Given the description of an element on the screen output the (x, y) to click on. 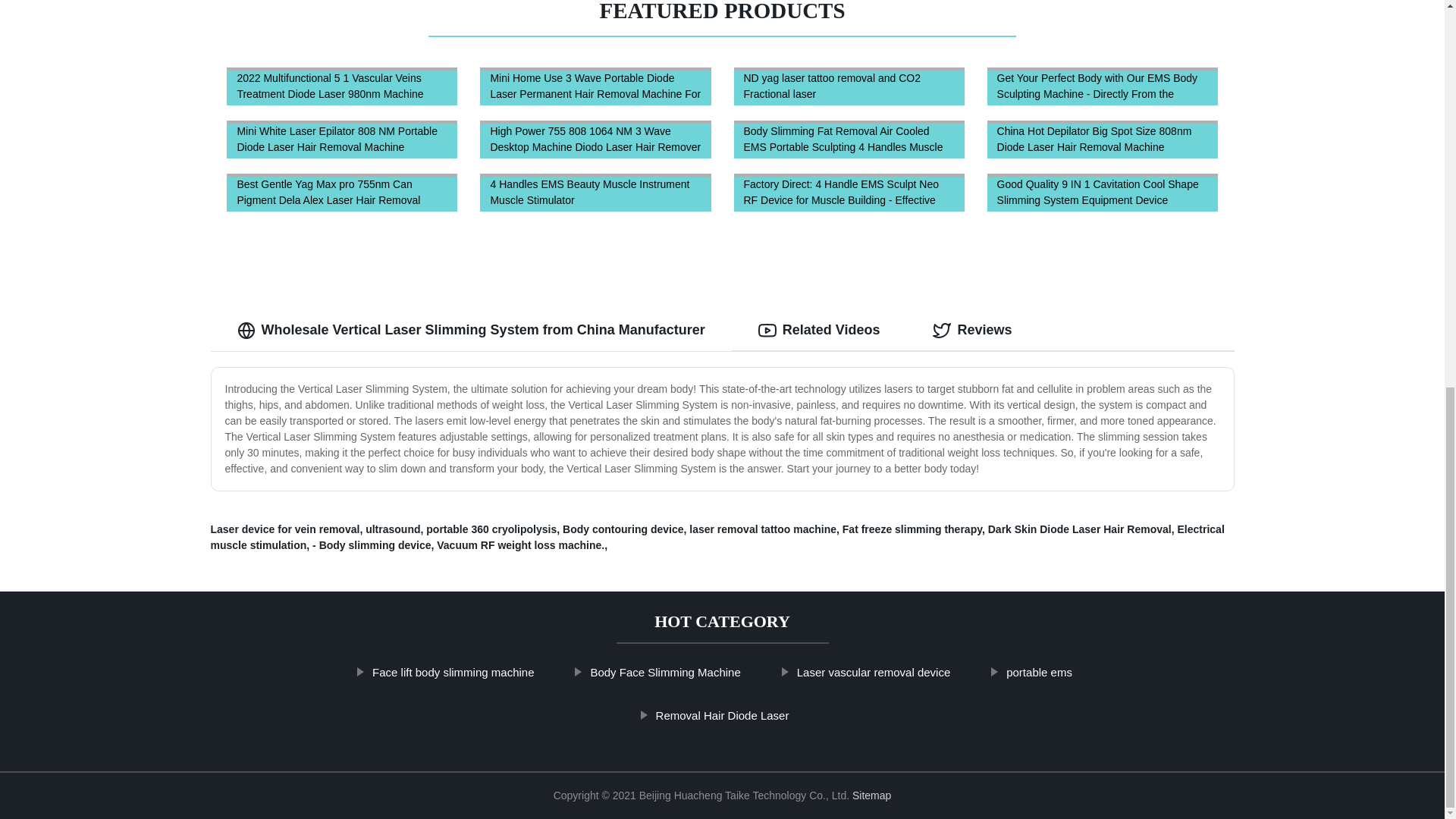
ND yag laser tattoo removal and CO2 Fractional laser (848, 86)
